Given the description of an element on the screen output the (x, y) to click on. 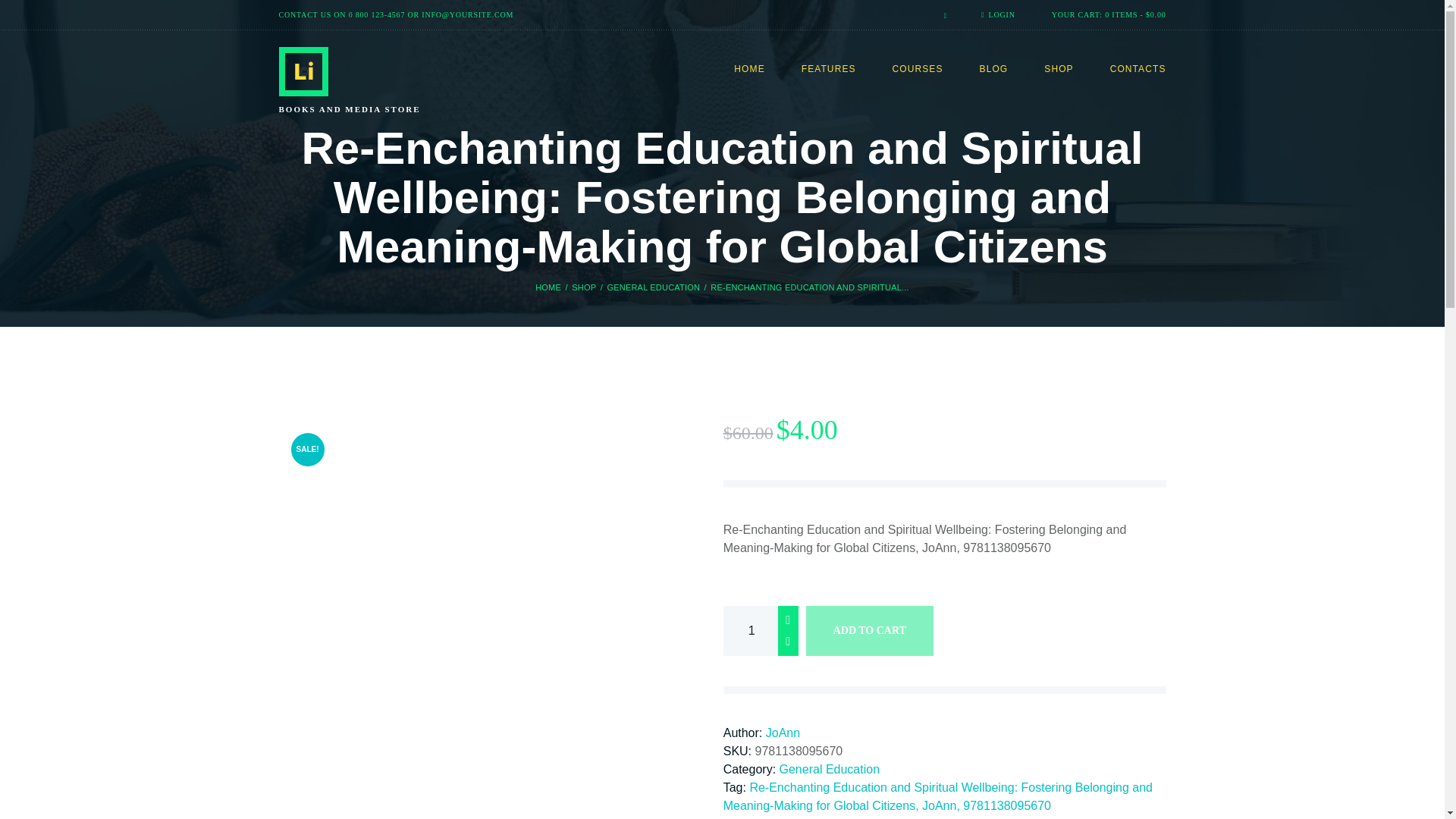
HOME (748, 69)
BLOG (994, 69)
FEATURES (829, 69)
1 (760, 631)
Open search (940, 15)
COURSES (917, 69)
BOOKS AND MEDIA STORE (368, 81)
0 800 123-4567 (377, 14)
LOGIN (997, 14)
